Given the description of an element on the screen output the (x, y) to click on. 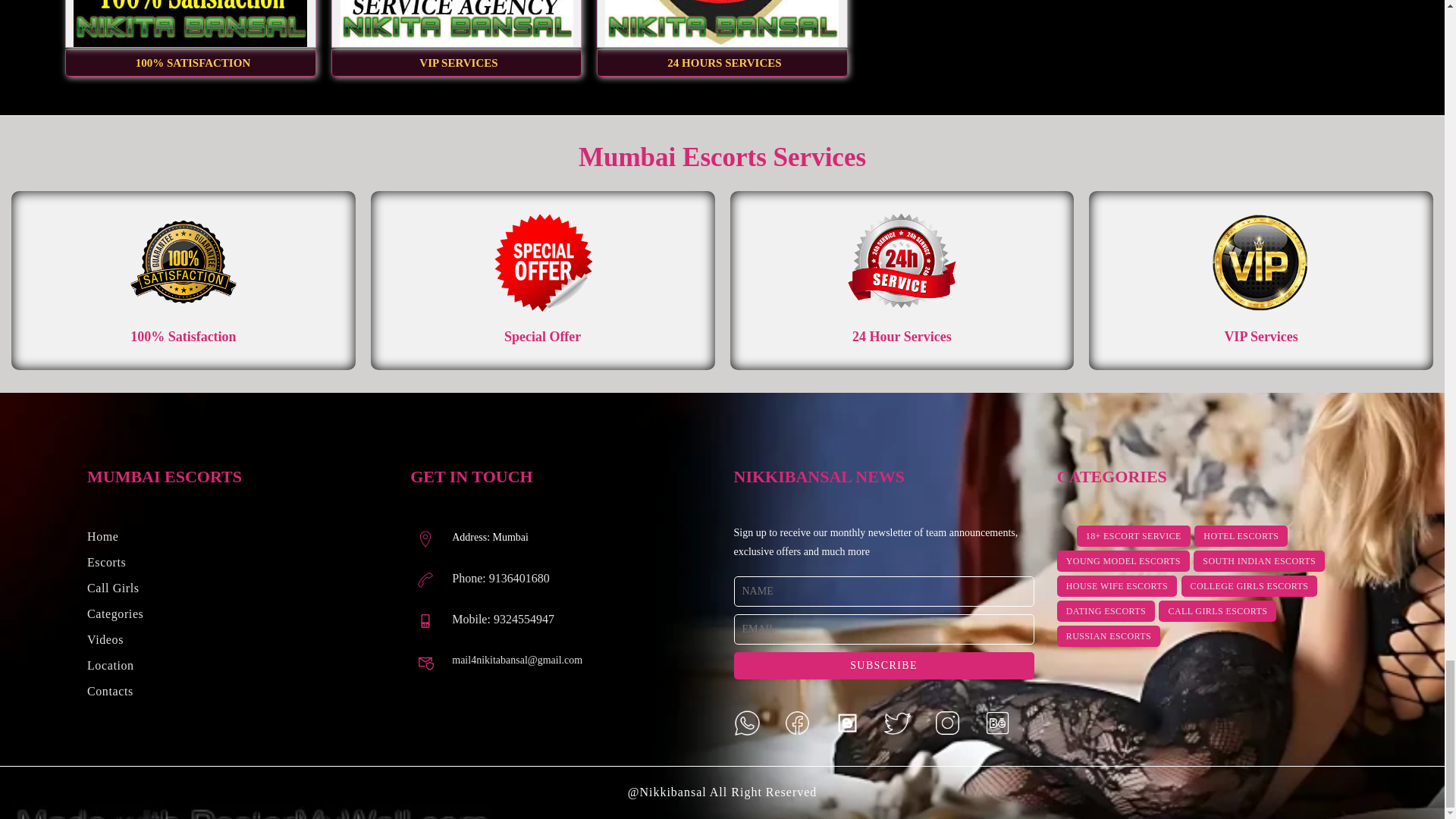
Subscribe (883, 665)
